Given the description of an element on the screen output the (x, y) to click on. 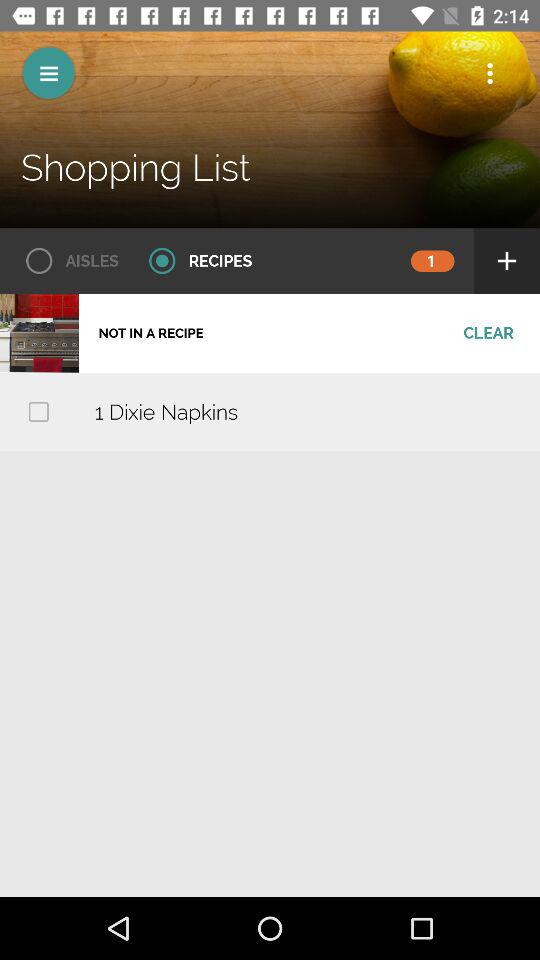
pick (38, 411)
